Given the description of an element on the screen output the (x, y) to click on. 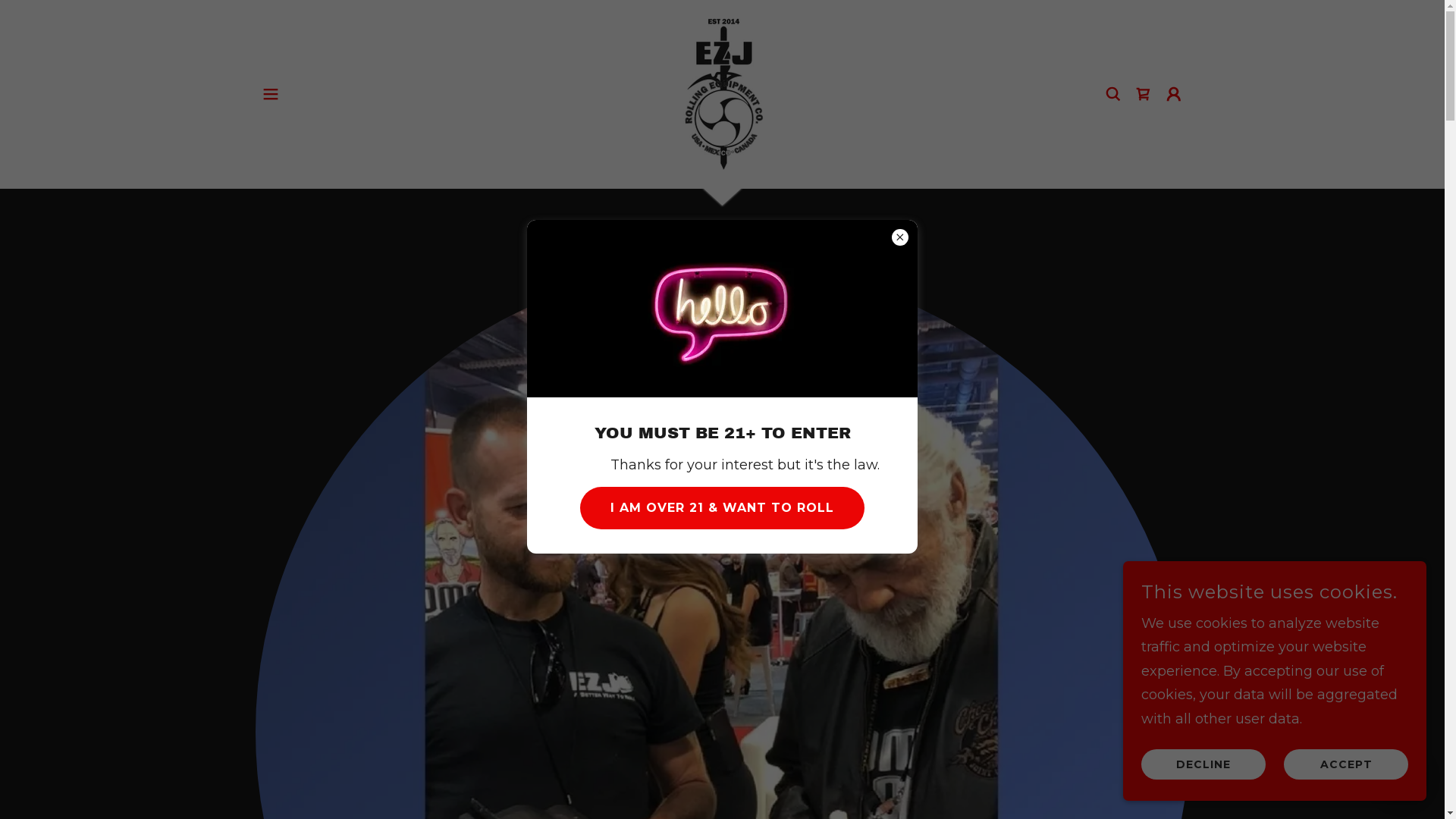
I AM OVER 21 & WANT TO ROLL Element type: text (722, 507)
DECLINE Element type: text (1203, 764)
EZJ.BUZZ 
 Patented American Made
Rolling Gear
 Element type: hover (721, 92)
ACCEPT Element type: text (1345, 764)
